Given the description of an element on the screen output the (x, y) to click on. 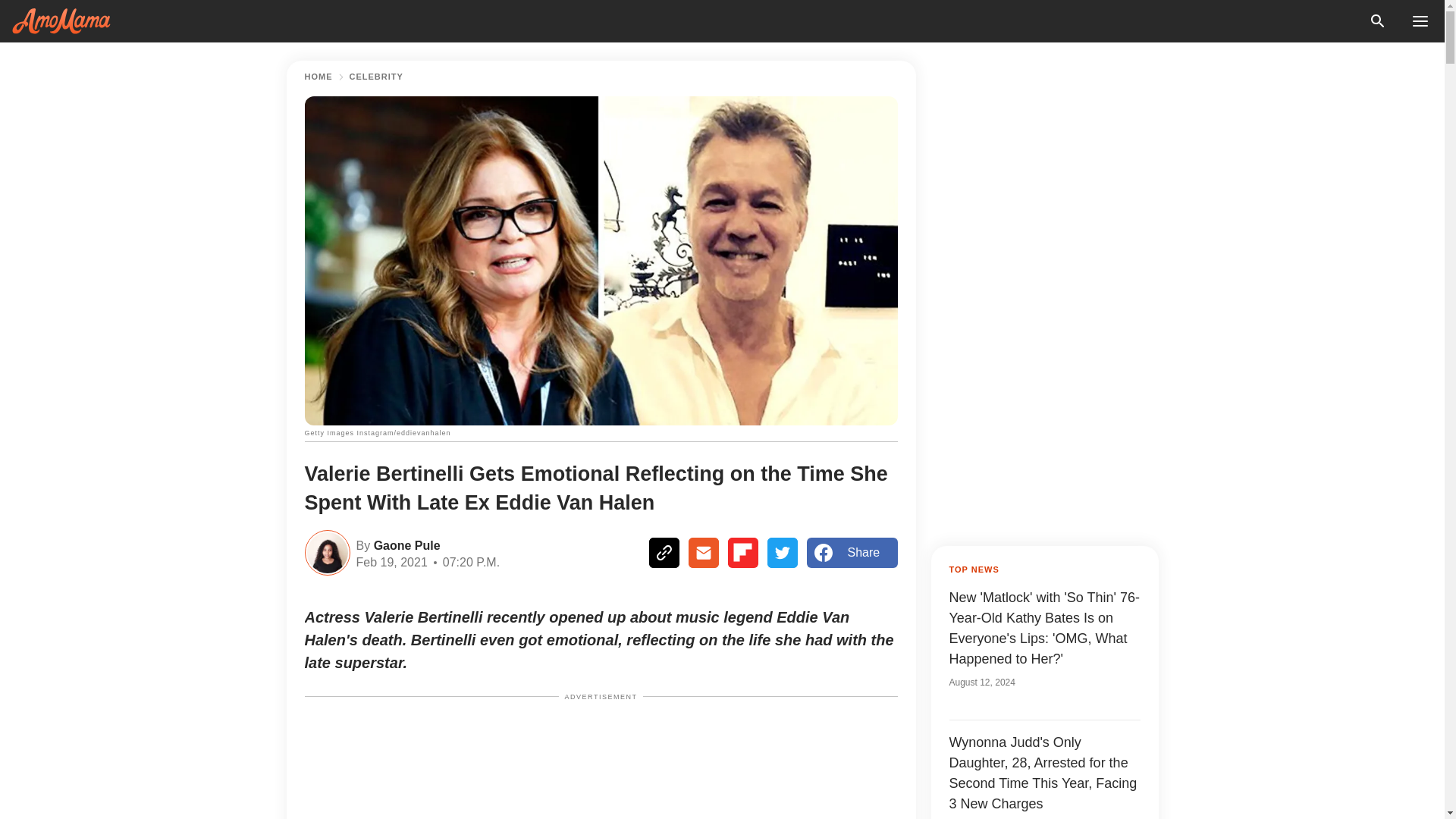
Gaone Pule (404, 544)
CELEBRITY (376, 76)
HOME (318, 76)
